Given the description of an element on the screen output the (x, y) to click on. 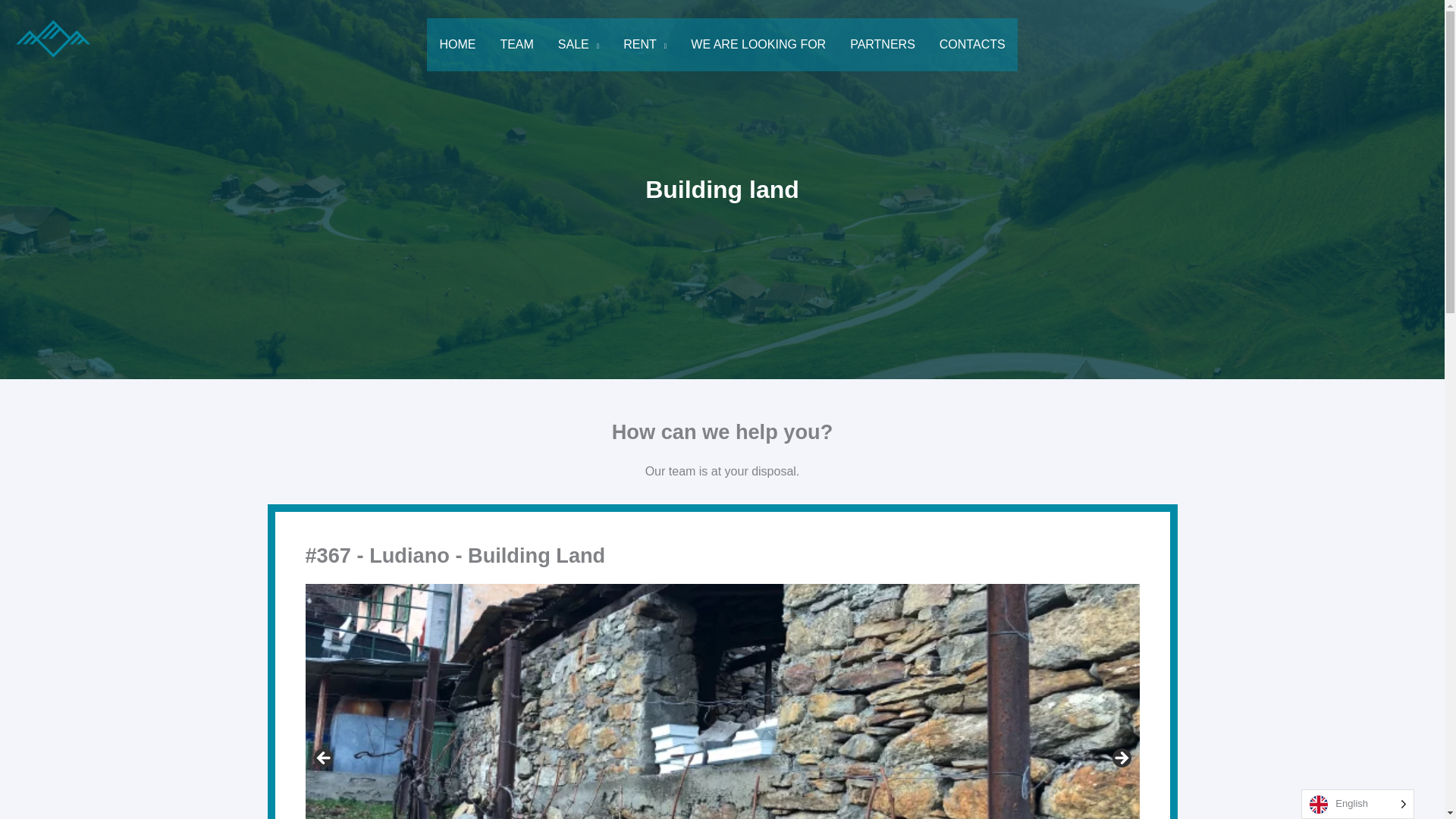
CONTACTS (972, 44)
WE ARE LOOKING FOR (758, 44)
HOME (456, 44)
RENT (644, 44)
SALE (578, 44)
TEAM (515, 44)
PARTNERS (882, 44)
